Given the description of an element on the screen output the (x, y) to click on. 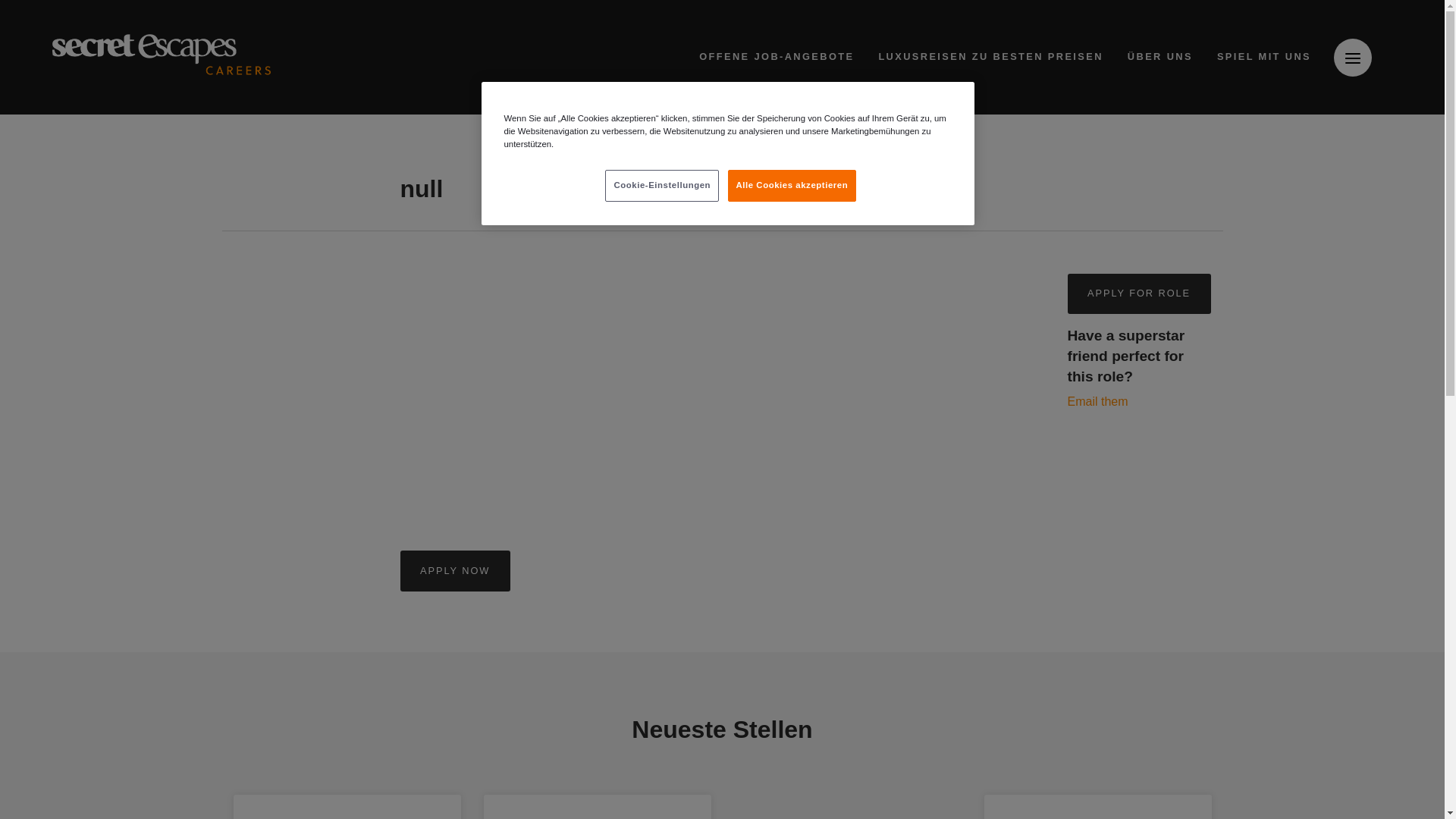
Cookie-Einstellungen (662, 185)
OFFENE JOB-ANGEBOTE (776, 57)
SPIEL MIT UNS (1264, 57)
Alle Cookies akzeptieren (792, 185)
APPLY NOW (455, 570)
Email them (1097, 400)
APPLY FOR ROLE (1139, 293)
LUXUSREISEN ZU BESTEN PREISEN (990, 57)
